Given the description of an element on the screen output the (x, y) to click on. 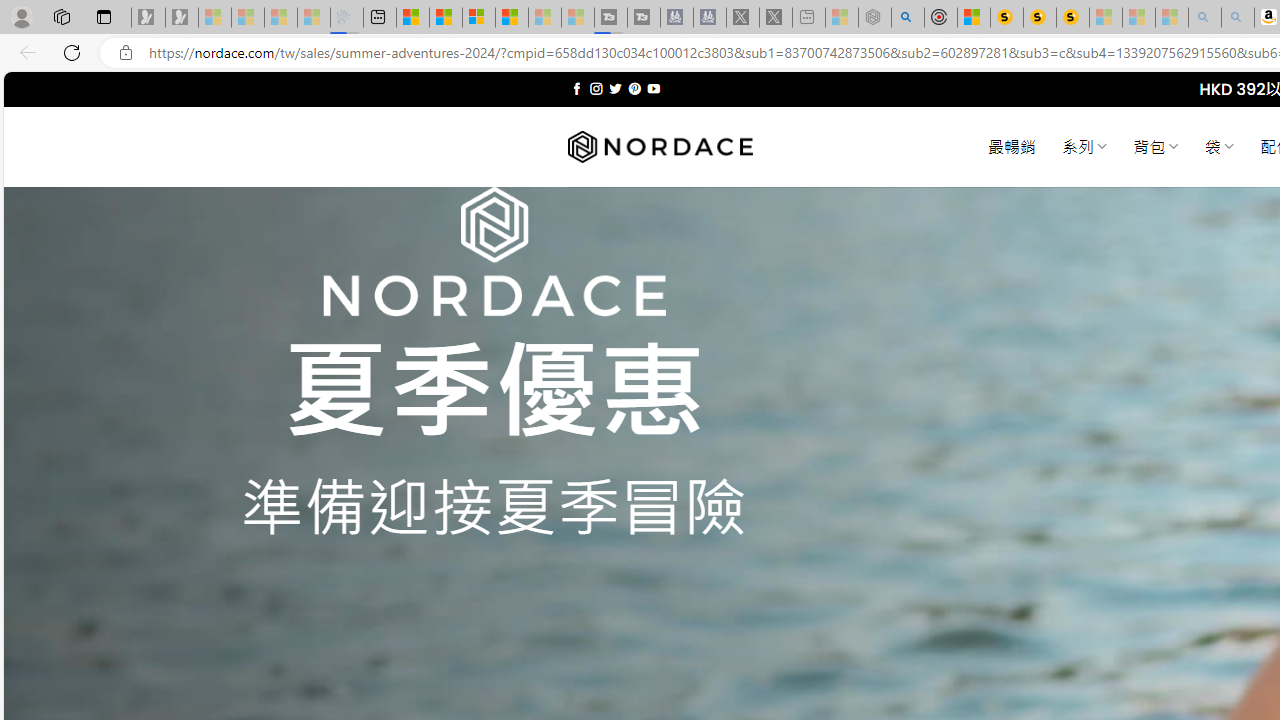
View site information (125, 53)
Follow on Facebook (576, 88)
Back (24, 52)
New tab - Sleeping (808, 17)
amazon - Search - Sleeping (1205, 17)
Wildlife - MSN - Sleeping (841, 17)
Streaming Coverage | T3 - Sleeping (611, 17)
Nordace - Summer Adventures 2024 - Sleeping (874, 17)
